Given the description of an element on the screen output the (x, y) to click on. 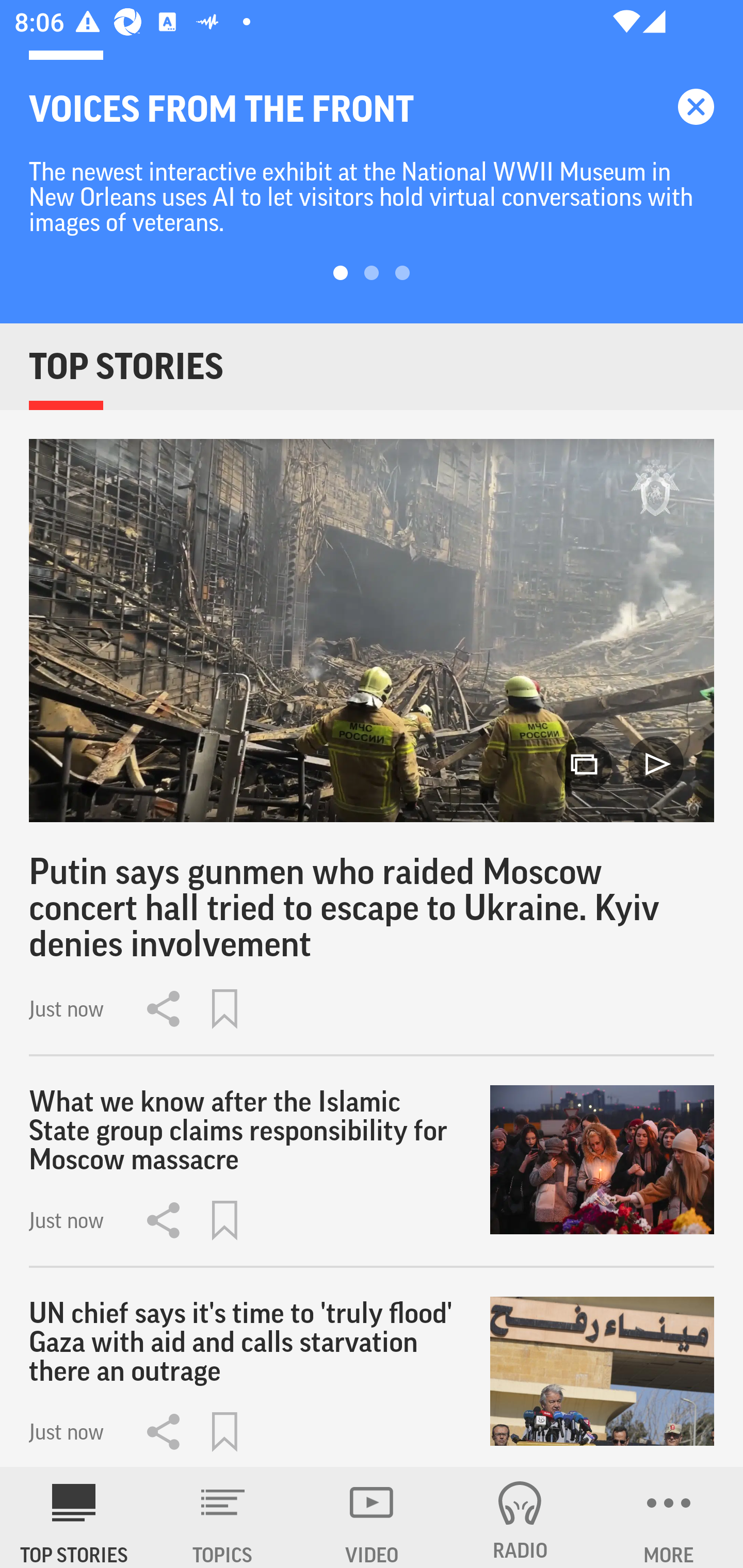
AP News TOP STORIES (74, 1517)
TOPICS (222, 1517)
VIDEO (371, 1517)
RADIO (519, 1517)
MORE (668, 1517)
